Given the description of an element on the screen output the (x, y) to click on. 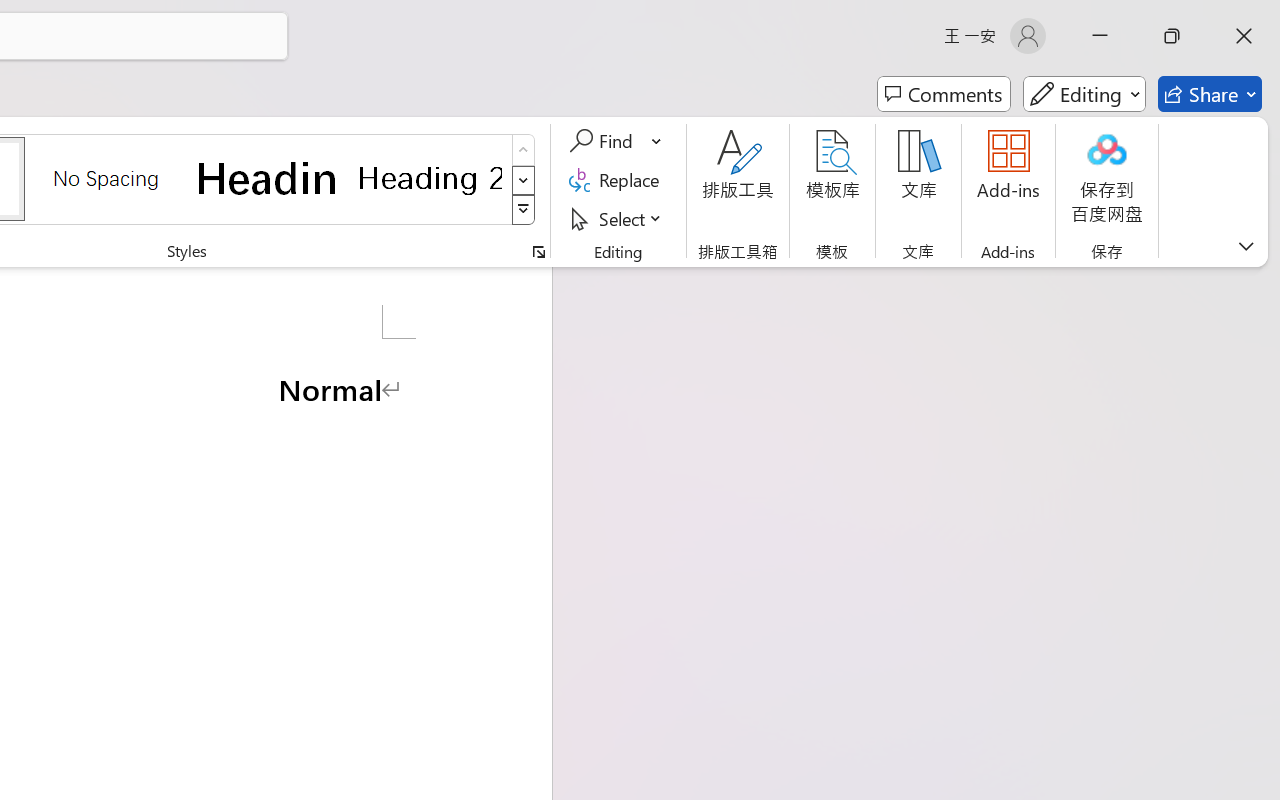
Styles... (538, 252)
Heading 2 (429, 178)
Styles (523, 209)
Mode (1083, 94)
